Given the description of an element on the screen output the (x, y) to click on. 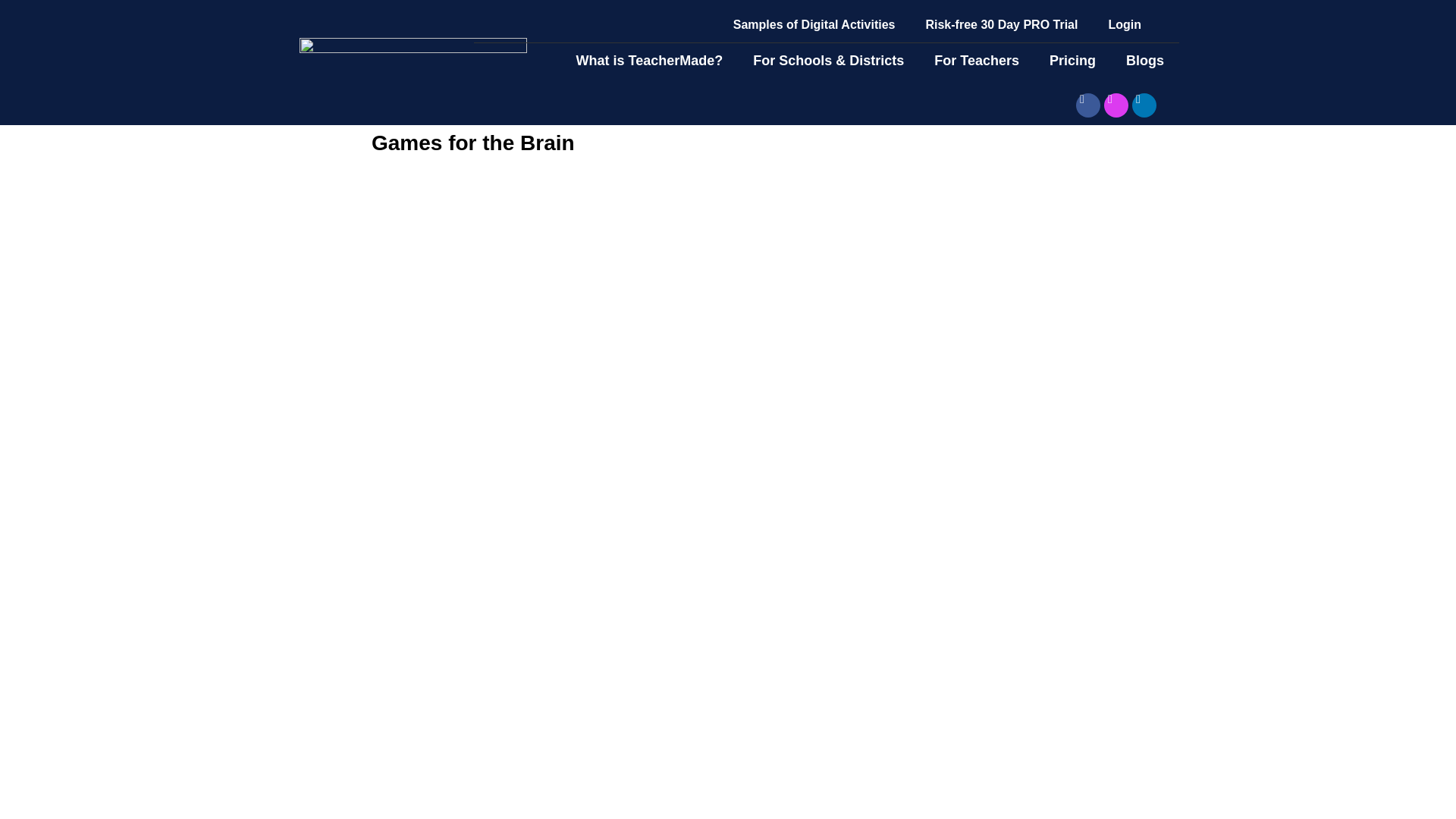
Login (1124, 24)
Blogs (1144, 60)
Samples of Digital Activities (814, 24)
Risk-free 30 Day PRO Trial (1001, 24)
What is TeacherMade? (649, 60)
For Teachers (975, 60)
Pricing (1071, 60)
